Given the description of an element on the screen output the (x, y) to click on. 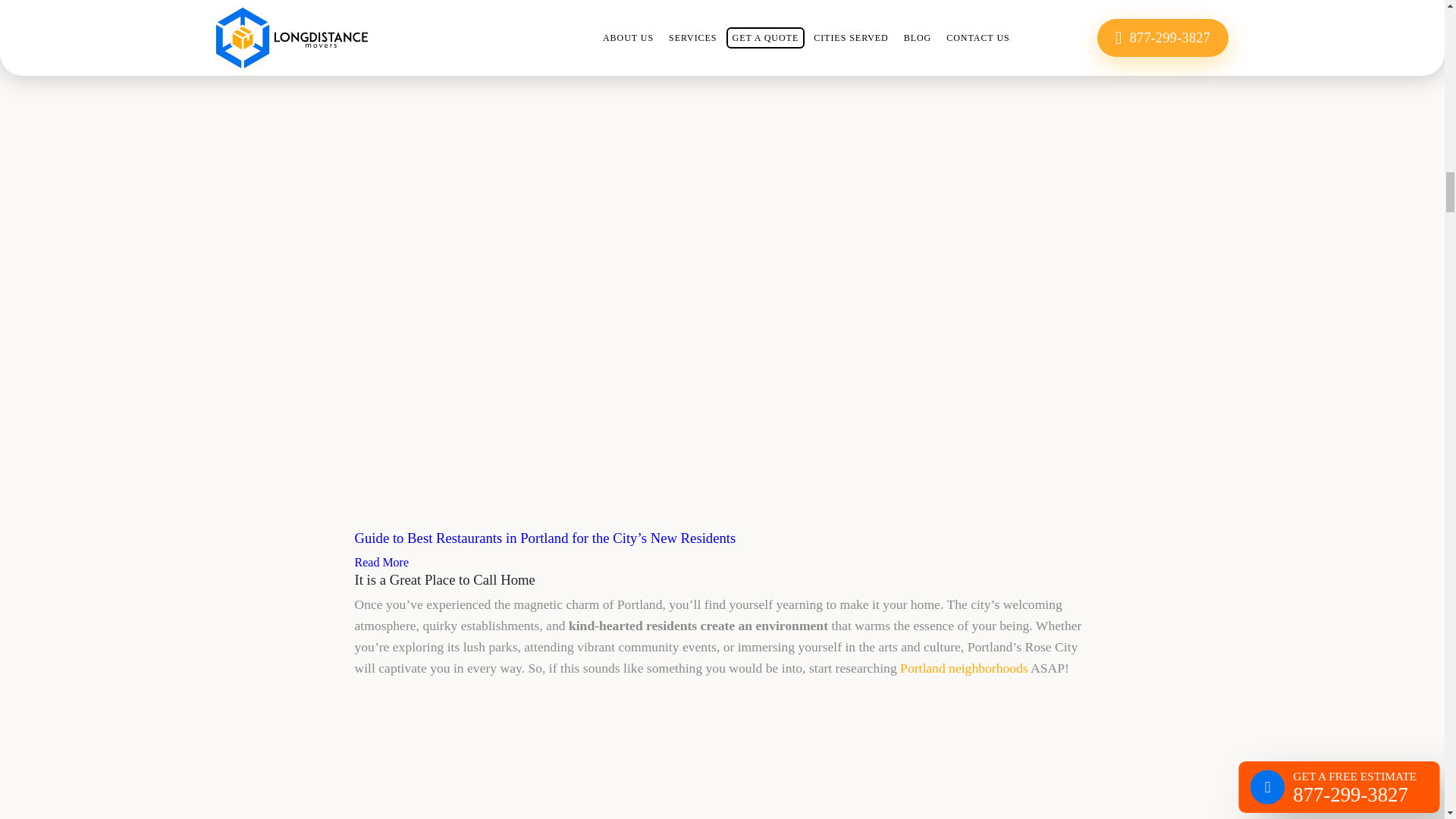
Read More (382, 562)
Portland neighborhoods (963, 667)
